Given the description of an element on the screen output the (x, y) to click on. 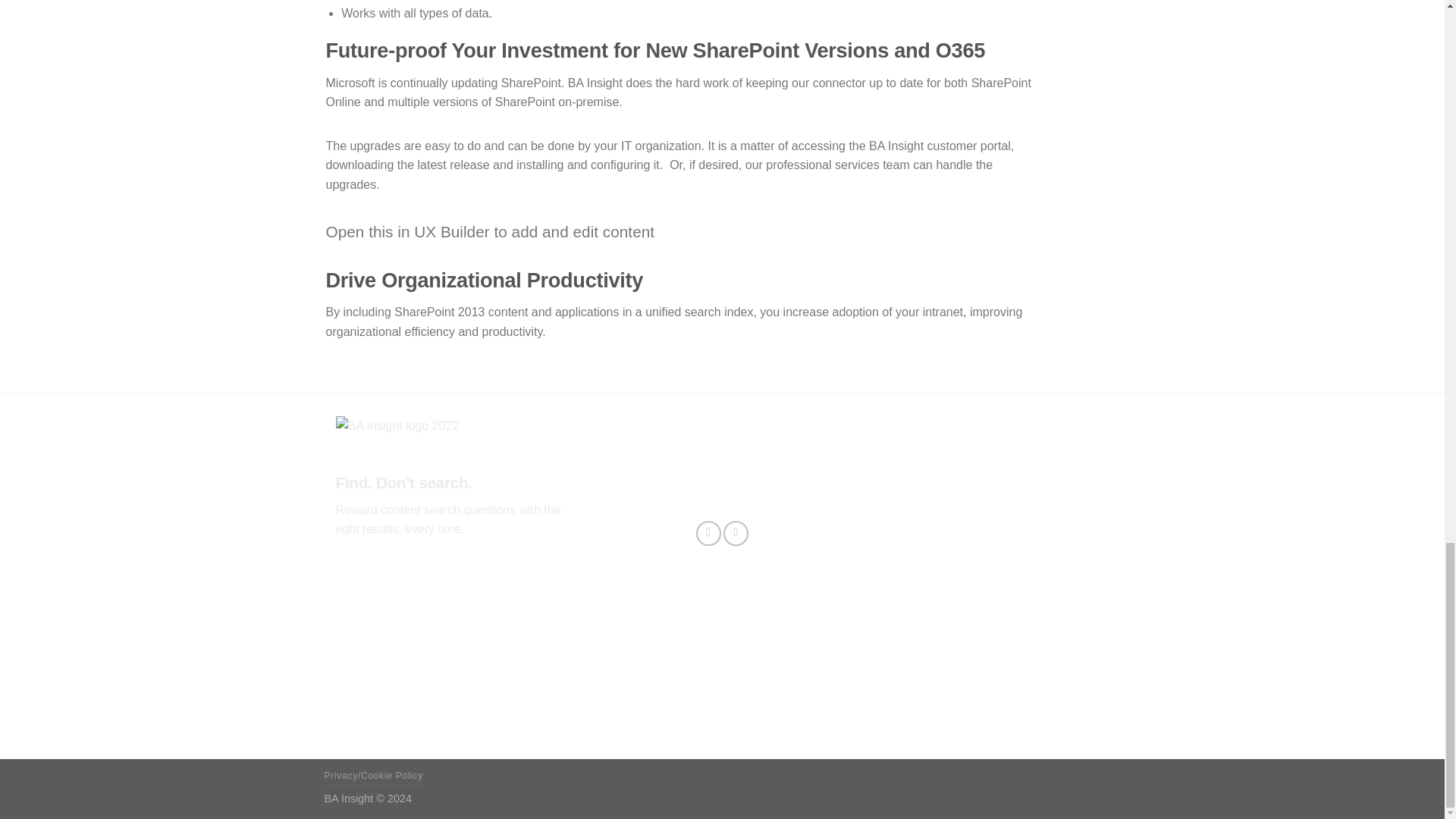
Follow on LinkedIn (735, 533)
Follow on Twitter (707, 533)
